Given the description of an element on the screen output the (x, y) to click on. 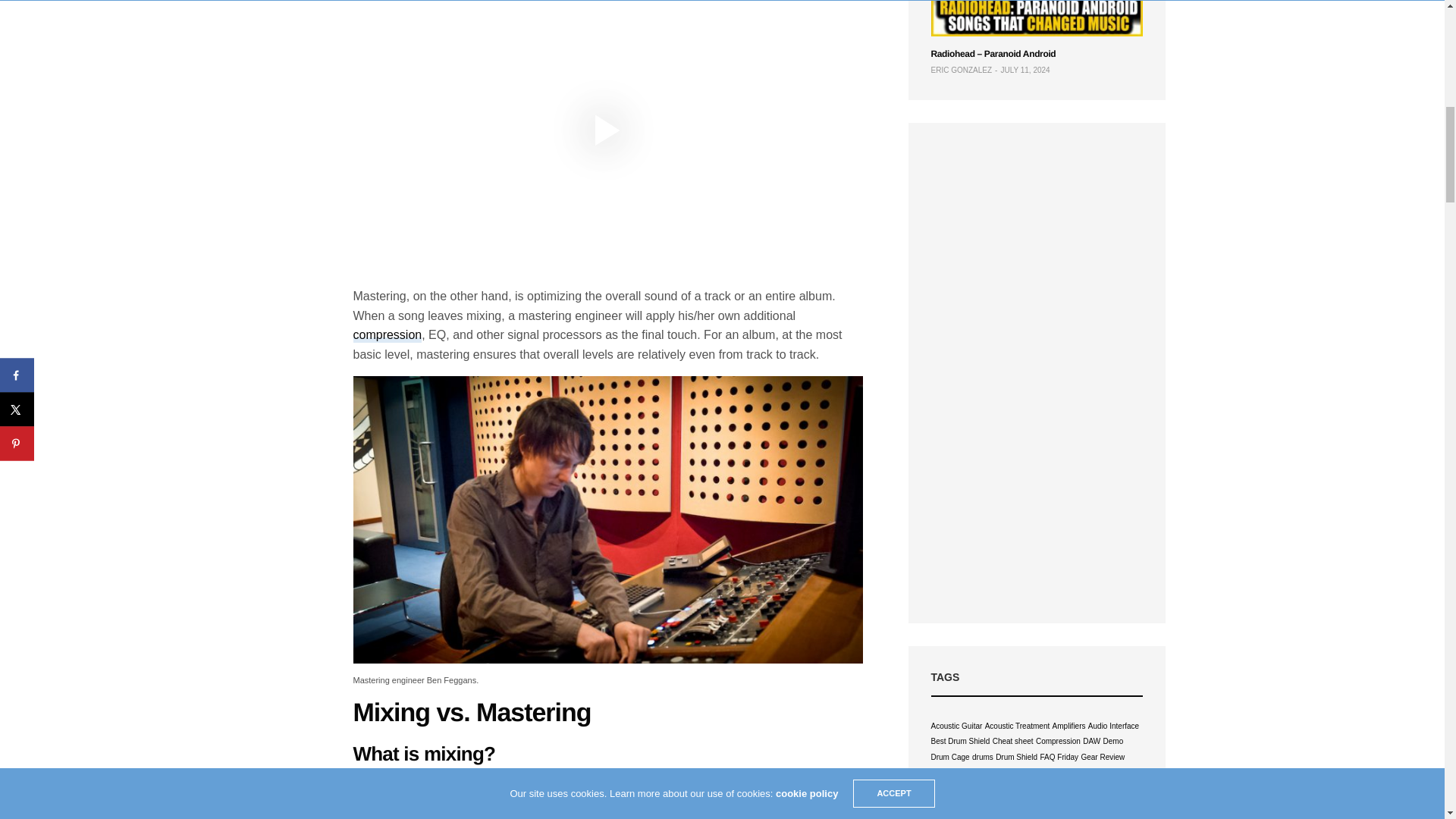
compression (387, 335)
